Given the description of an element on the screen output the (x, y) to click on. 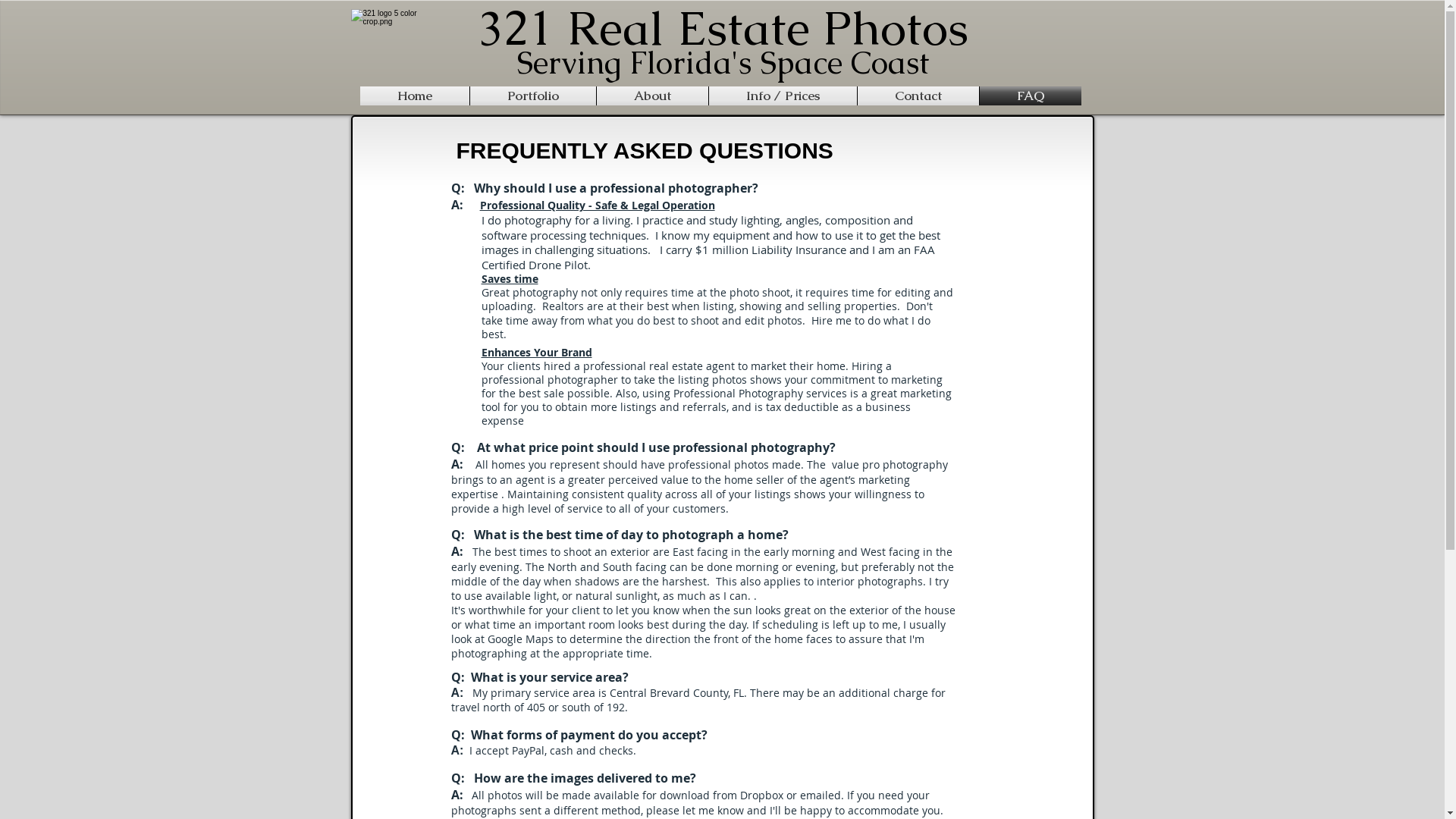
Portfolio Element type: text (533, 95)
About Element type: text (651, 95)
Contact Element type: text (917, 95)
FAQ Element type: text (1030, 95)
Info / Prices Element type: text (782, 95)
Home Element type: text (413, 95)
